Given the description of an element on the screen output the (x, y) to click on. 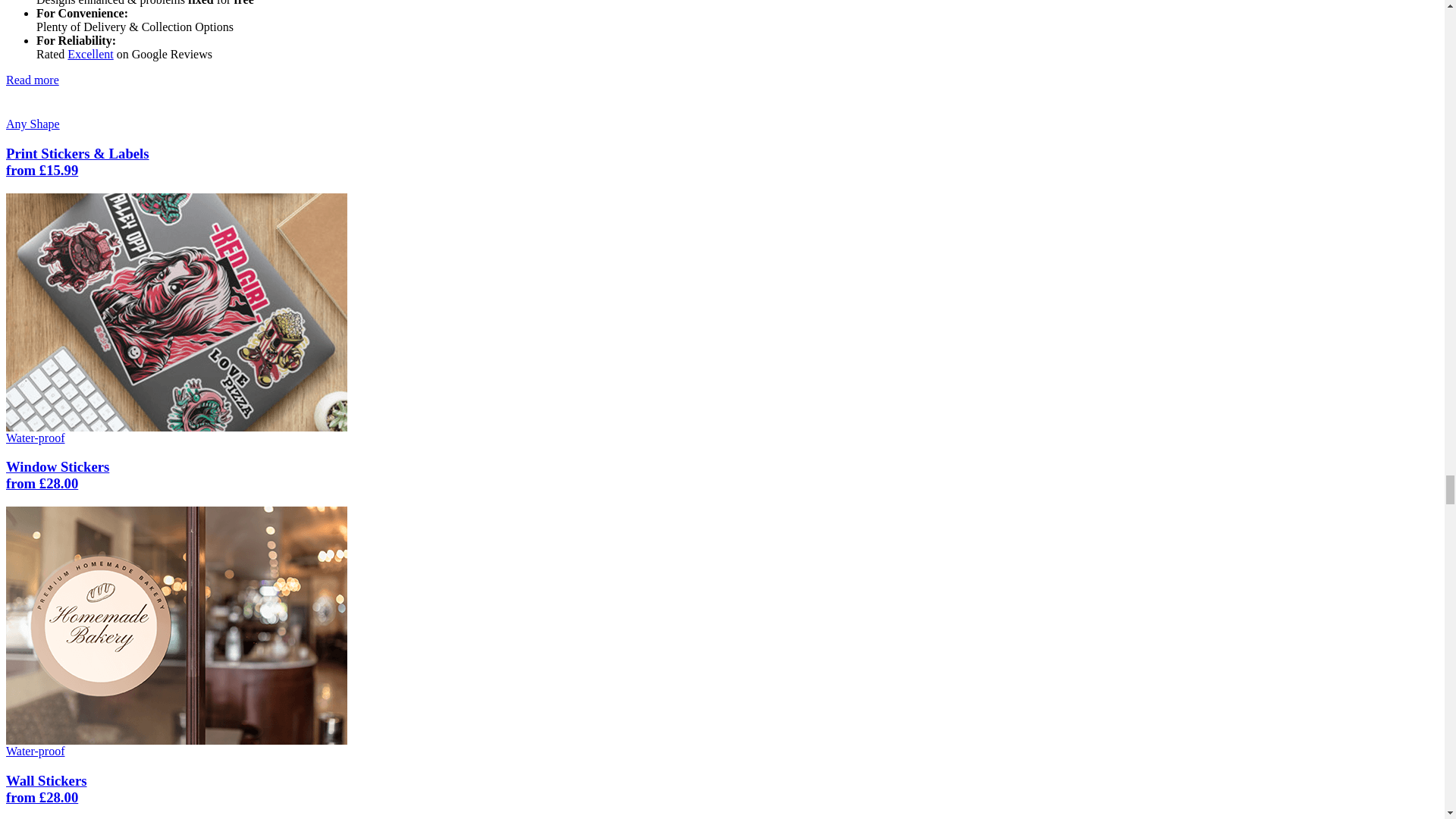
Order Stickers (176, 309)
Order Window Stickers (176, 624)
Why Choose Us (32, 79)
